Given the description of an element on the screen output the (x, y) to click on. 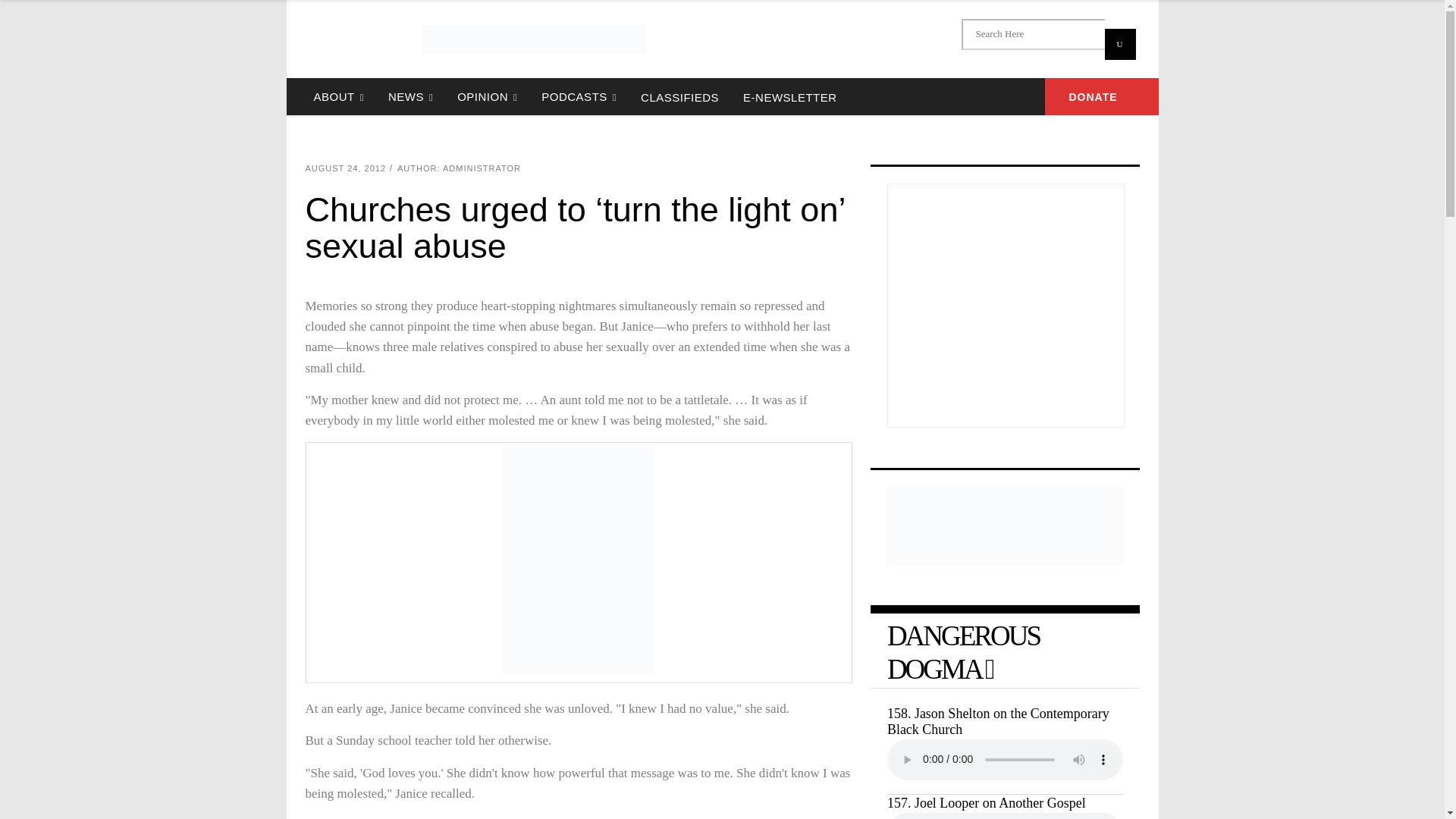
U (1119, 43)
OPINION (487, 96)
ABOUT (338, 96)
E-NEWSLETTER (789, 96)
NEWS (410, 96)
CLASSIFIEDS (679, 96)
DONATE (1101, 96)
U (1119, 43)
U (1119, 43)
PODCASTS (578, 96)
